Given the description of an element on the screen output the (x, y) to click on. 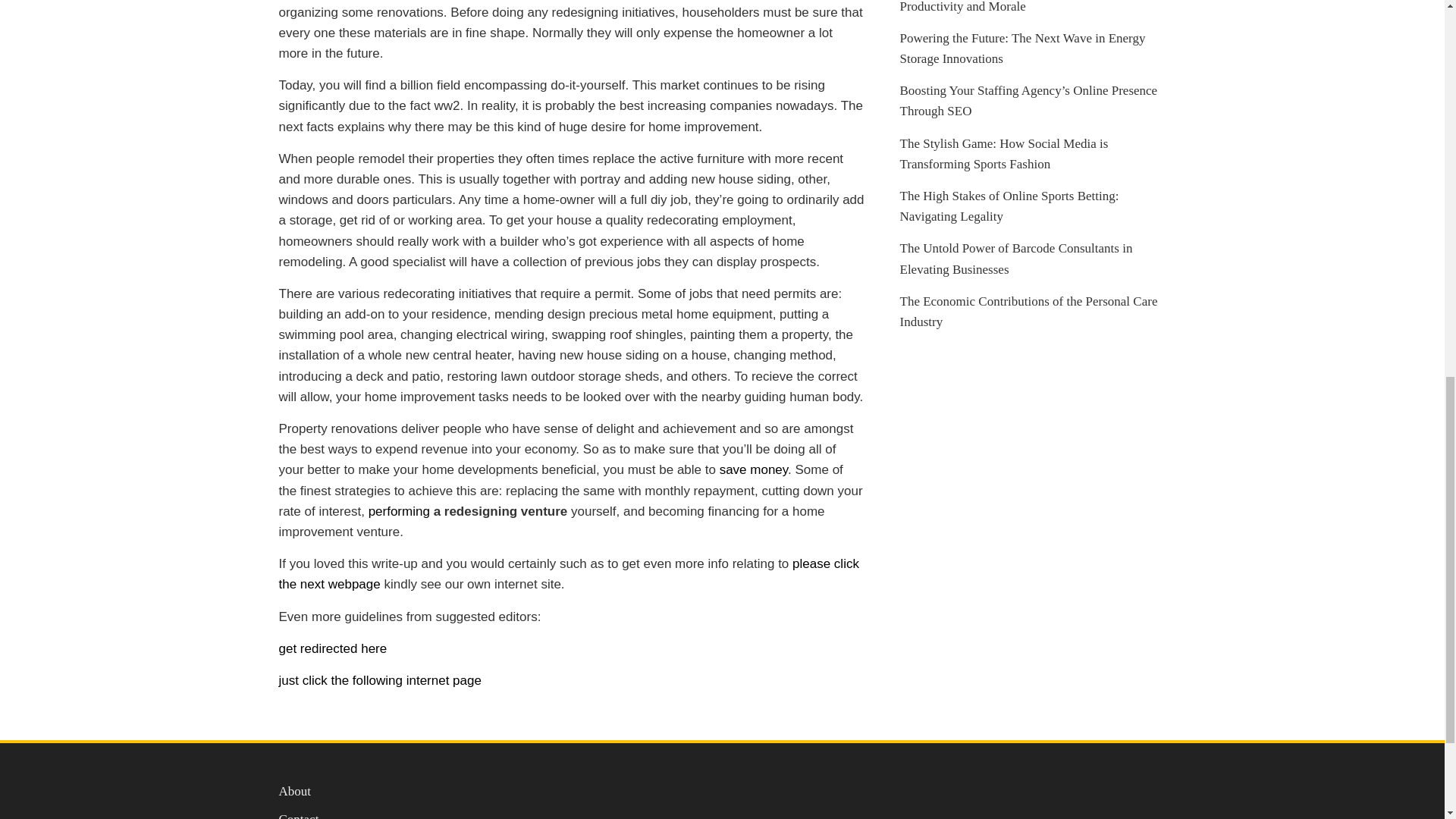
Contact (298, 815)
get redirected here (333, 648)
performing (398, 511)
About (295, 790)
The Economic Contributions of the Personal Care Industry (1028, 311)
just click the following internet page (380, 680)
please click the next webpage (569, 573)
